Given the description of an element on the screen output the (x, y) to click on. 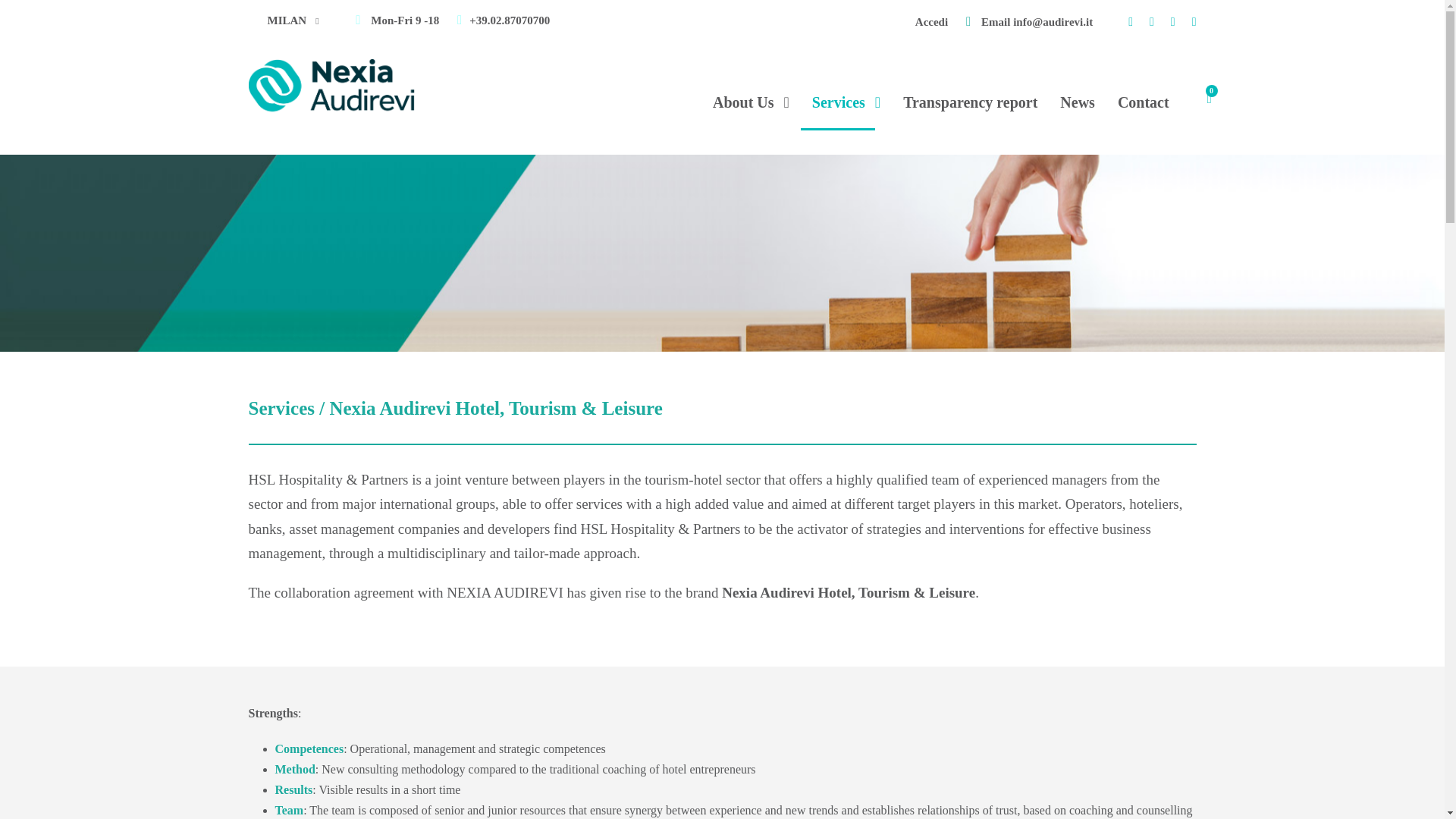
Accedi (931, 21)
